Given the description of an element on the screen output the (x, y) to click on. 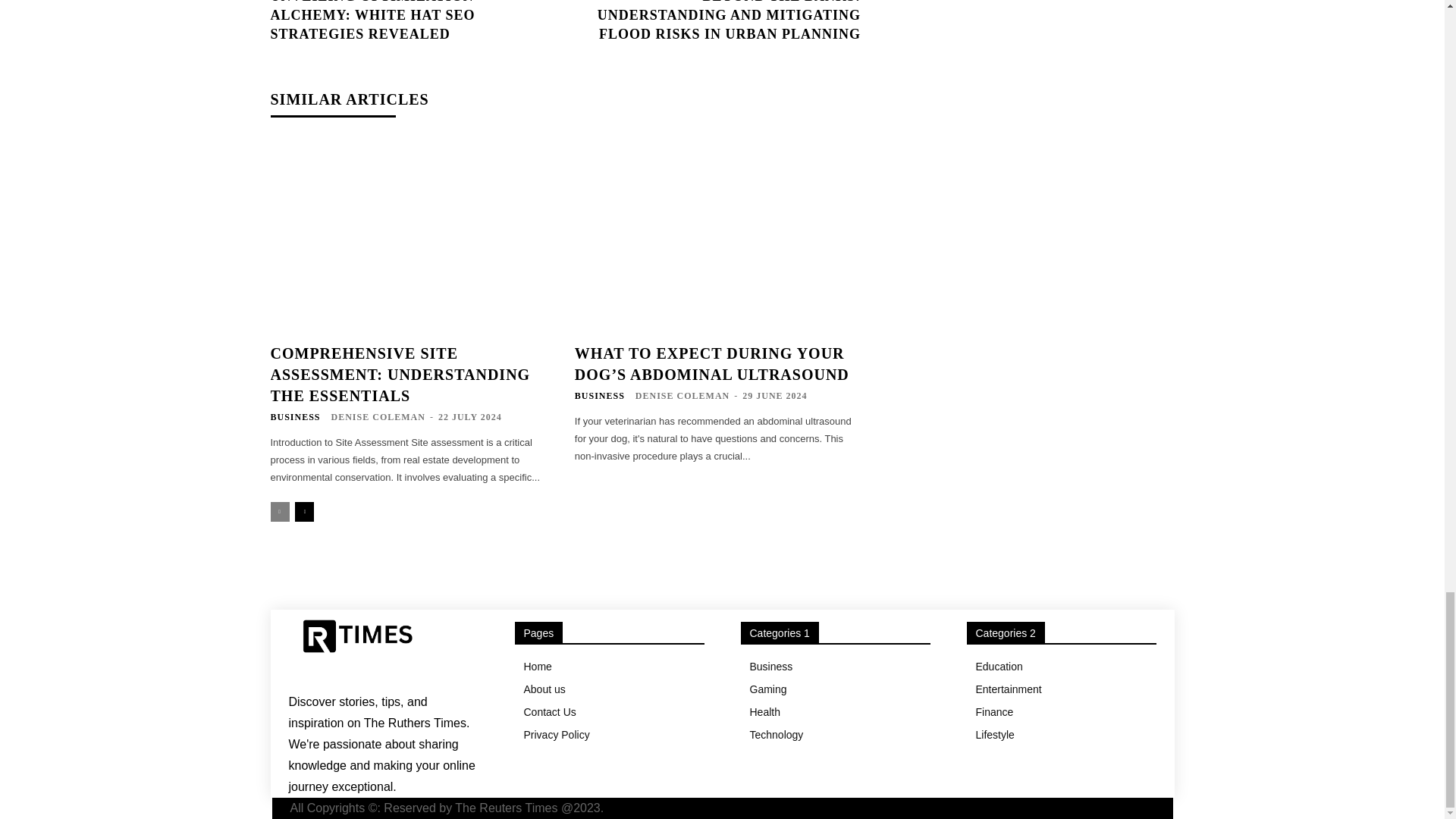
Comprehensive Site Assessment: Understanding the Essentials (399, 374)
Comprehensive Site Assessment: Understanding the Essentials (412, 237)
